Given the description of an element on the screen output the (x, y) to click on. 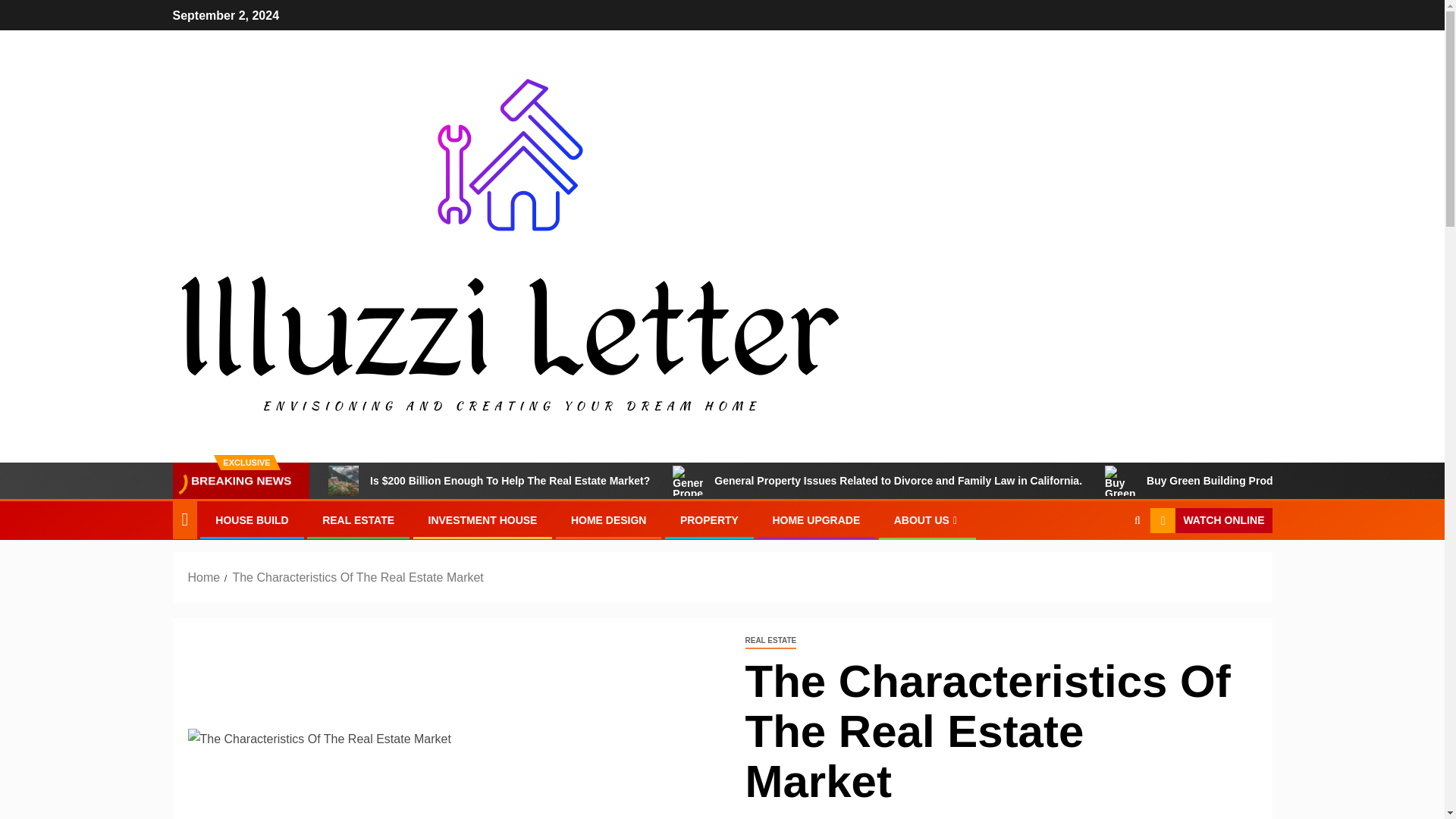
HOME UPGRADE (815, 520)
Home (204, 576)
ABOUT US (926, 520)
REAL ESTATE (357, 520)
Is 0 Billion Enough To Help The Real Estate Market? (343, 481)
INVESTMENT HOUSE (482, 520)
The Characteristics Of The Real Estate Market (357, 576)
HOUSE BUILD (251, 520)
REAL ESTATE (770, 641)
